Given the description of an element on the screen output the (x, y) to click on. 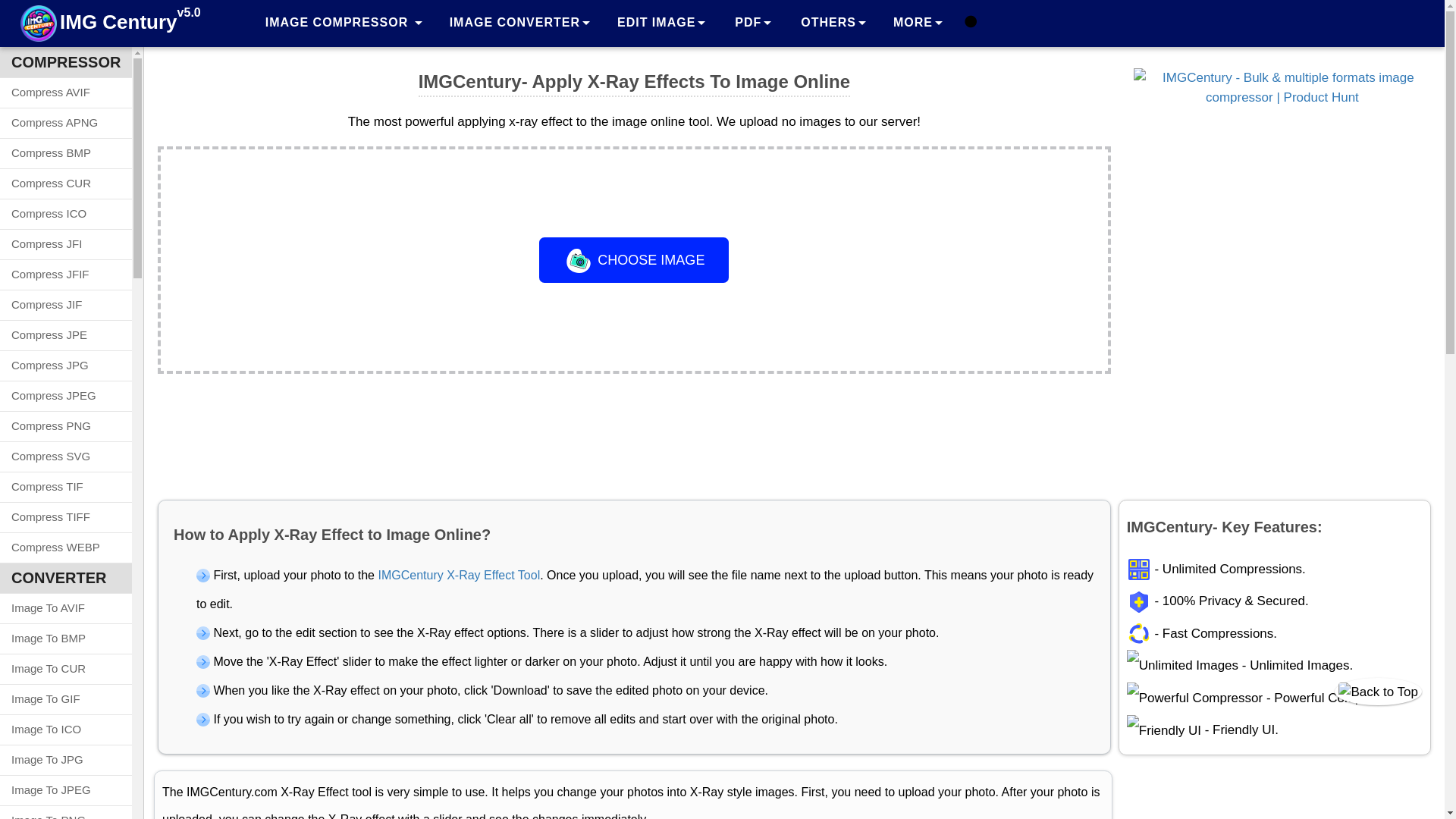
Compress Image Online (343, 22)
IMAGE CONVERTER (519, 22)
IMG Centuryv5.0 (110, 23)
Go to top (1378, 691)
EDIT IMAGE (661, 22)
IMAGE COMPRESSOR (343, 22)
